Given the description of an element on the screen output the (x, y) to click on. 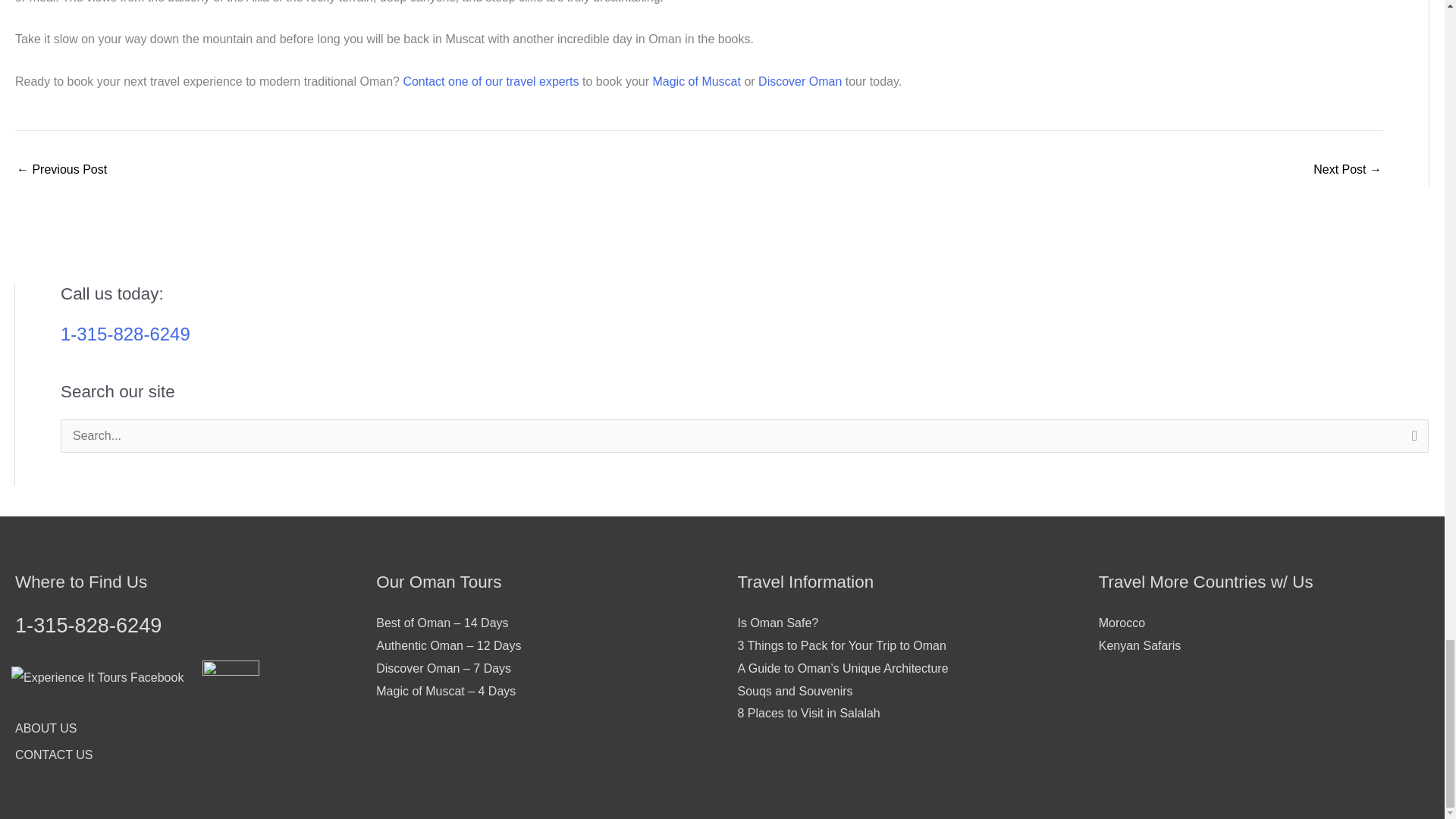
Is Oman Safe? (777, 622)
Contact one of our travel experts (490, 81)
Discover Oman (799, 81)
8 Places to Visit in Salalah (1347, 171)
Magic of Muscat (695, 81)
ABOUT US (45, 727)
3 Things to Pack for Your Trip to Oman (61, 171)
CONTACT US (53, 753)
1-315-828-6249 (125, 333)
3 Things to Pack for Your Trip to Oman (840, 645)
